Given the description of an element on the screen output the (x, y) to click on. 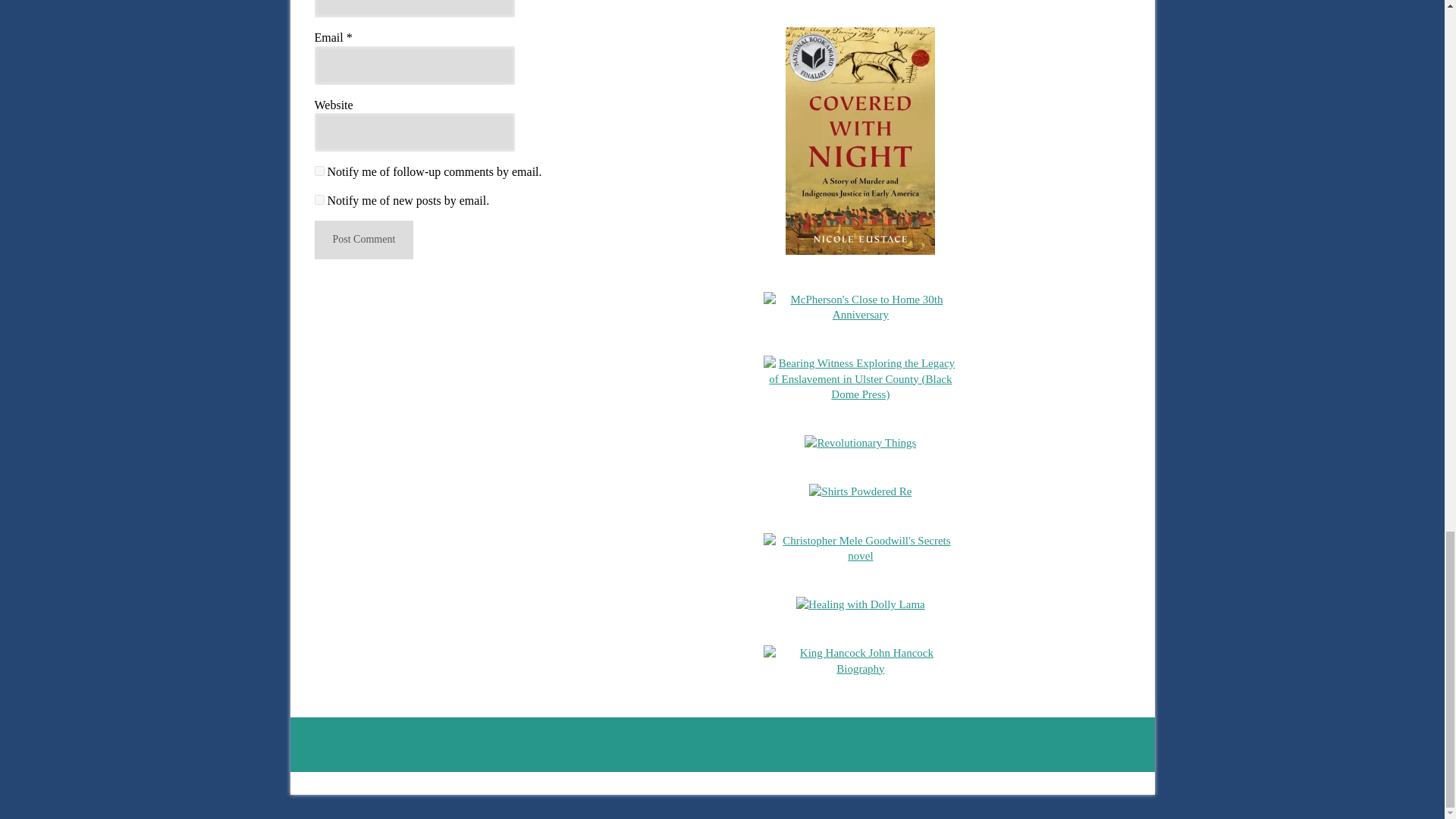
subscribe (318, 199)
Post Comment (363, 239)
subscribe (318, 171)
